Given the description of an element on the screen output the (x, y) to click on. 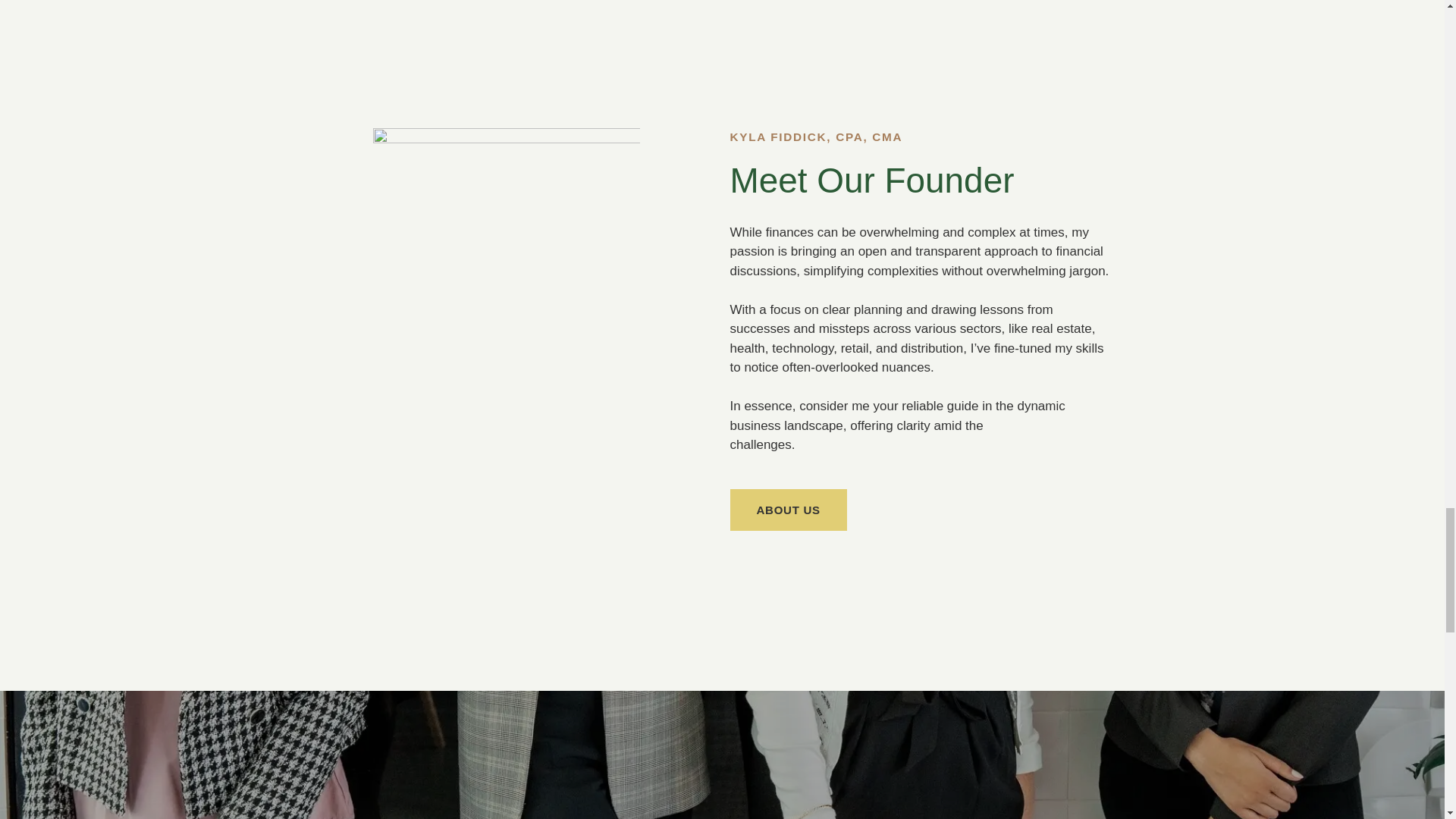
ABOUT US (787, 509)
